Given the description of an element on the screen output the (x, y) to click on. 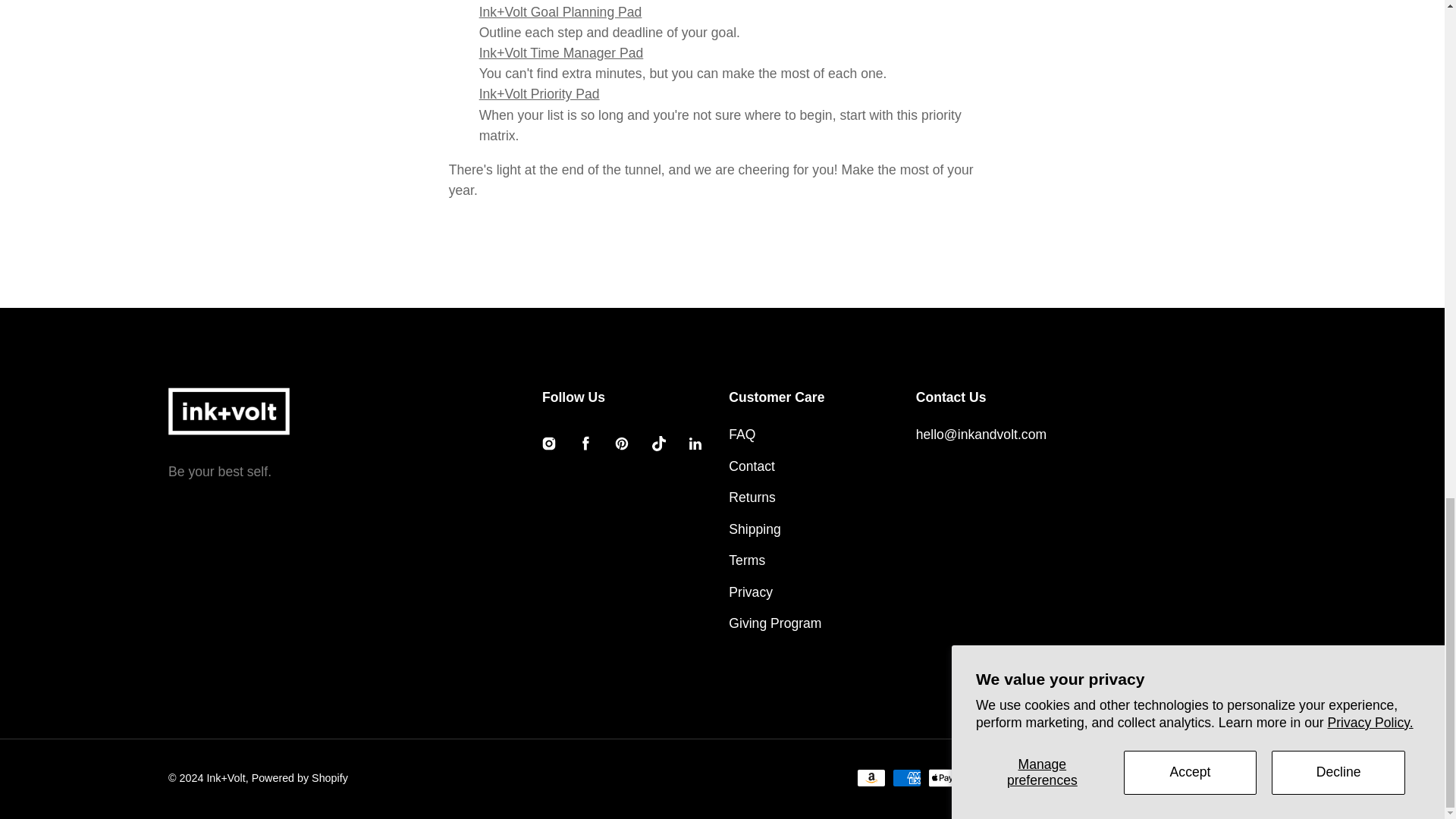
Meta Pay (1047, 778)
Amazon (871, 778)
Mastercard (1119, 778)
Visa (1261, 778)
goal planning notepad (560, 11)
Diners Club (977, 778)
Apple Pay (942, 778)
Venmo (1225, 778)
Shop Pay (1190, 778)
priority notepad (539, 93)
PayPal (1155, 778)
Discover (1012, 778)
time management notepad (561, 52)
Google Pay (1084, 778)
American Express (906, 778)
